Given the description of an element on the screen output the (x, y) to click on. 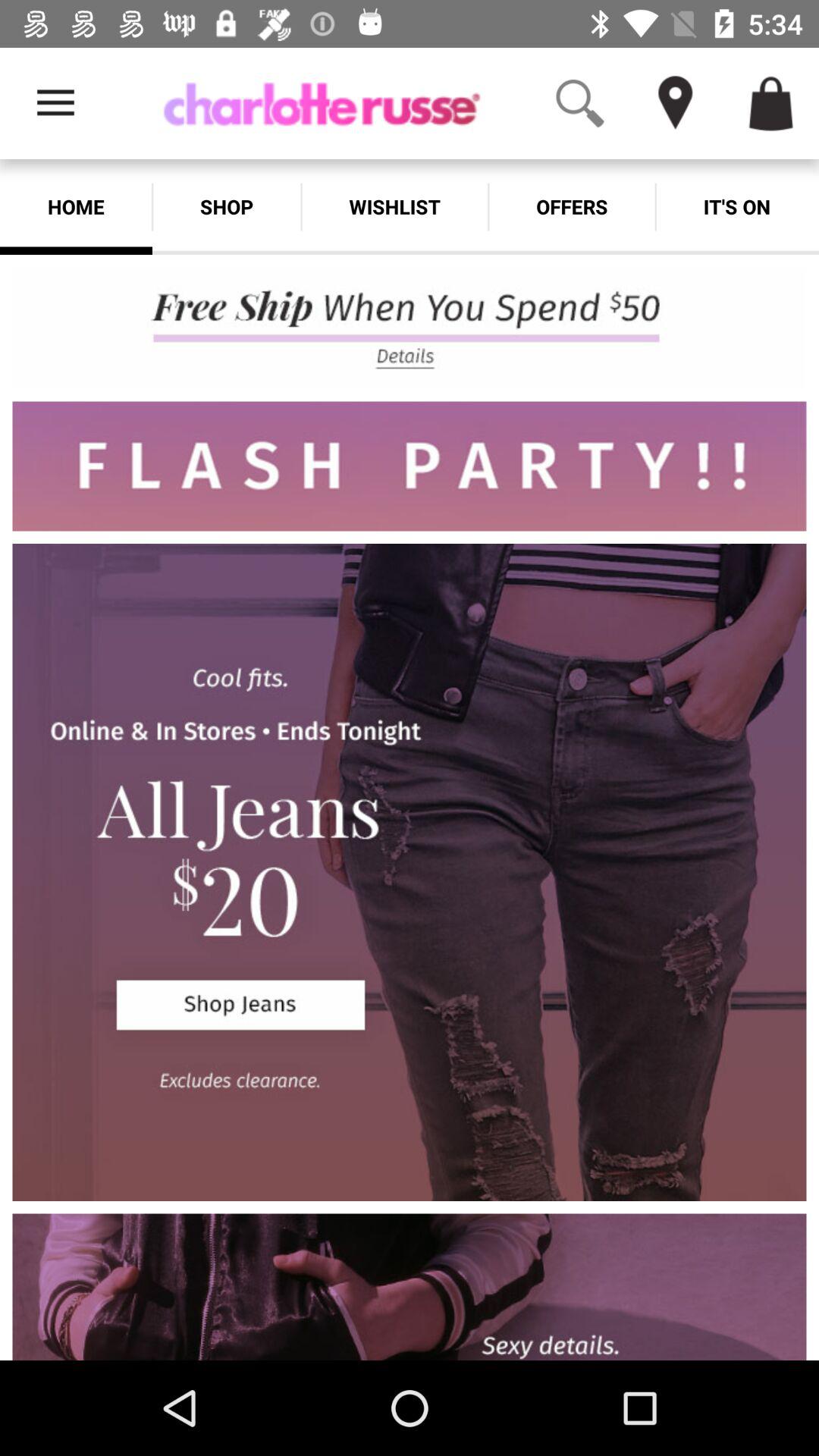
launch app next to offers app (394, 206)
